Given the description of an element on the screen output the (x, y) to click on. 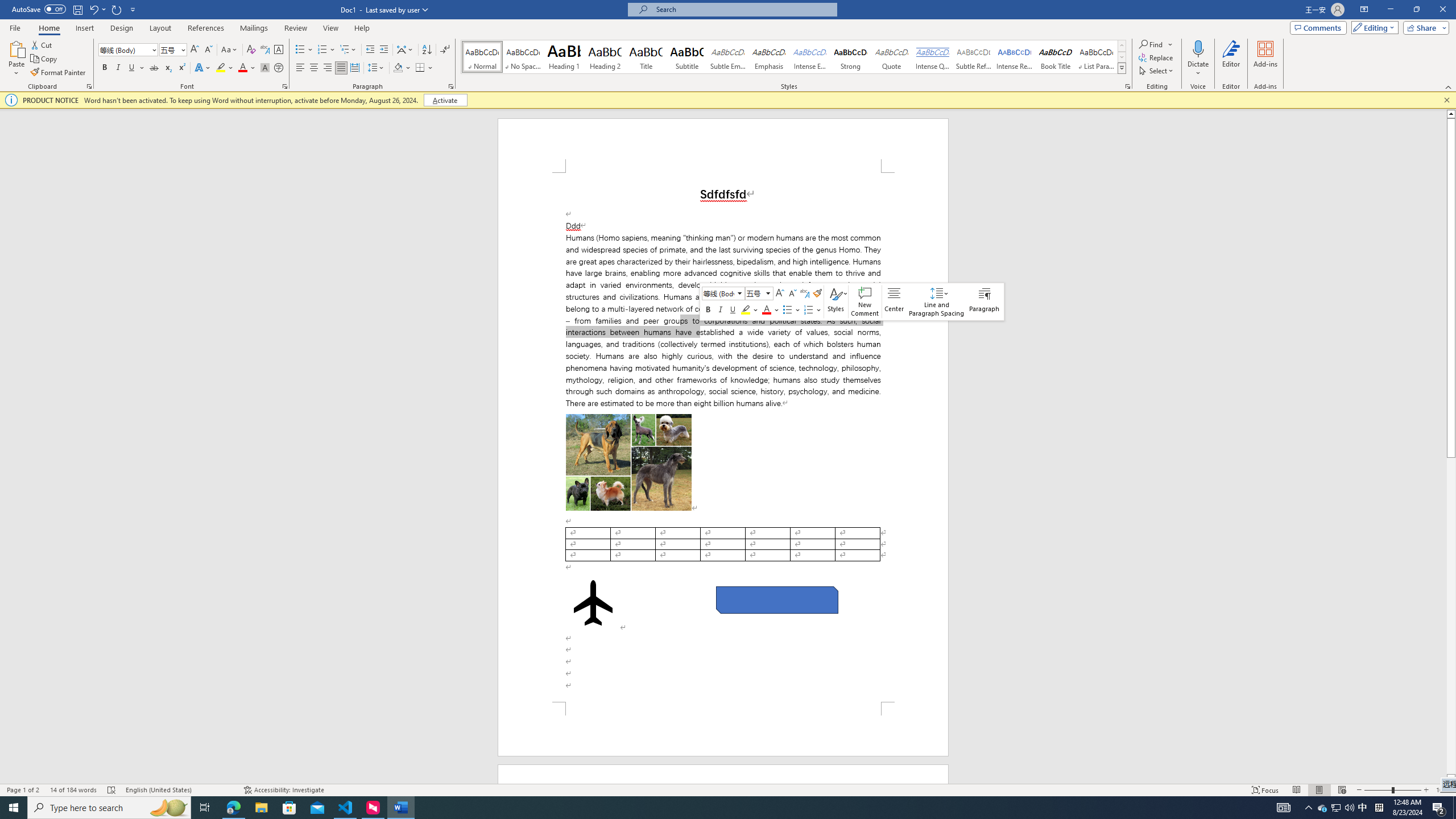
Quote (891, 56)
AutomationID: QuickStylesGallery (794, 56)
Intense Reference (1014, 56)
Subtle Reference (973, 56)
Title (646, 56)
